Given the description of an element on the screen output the (x, y) to click on. 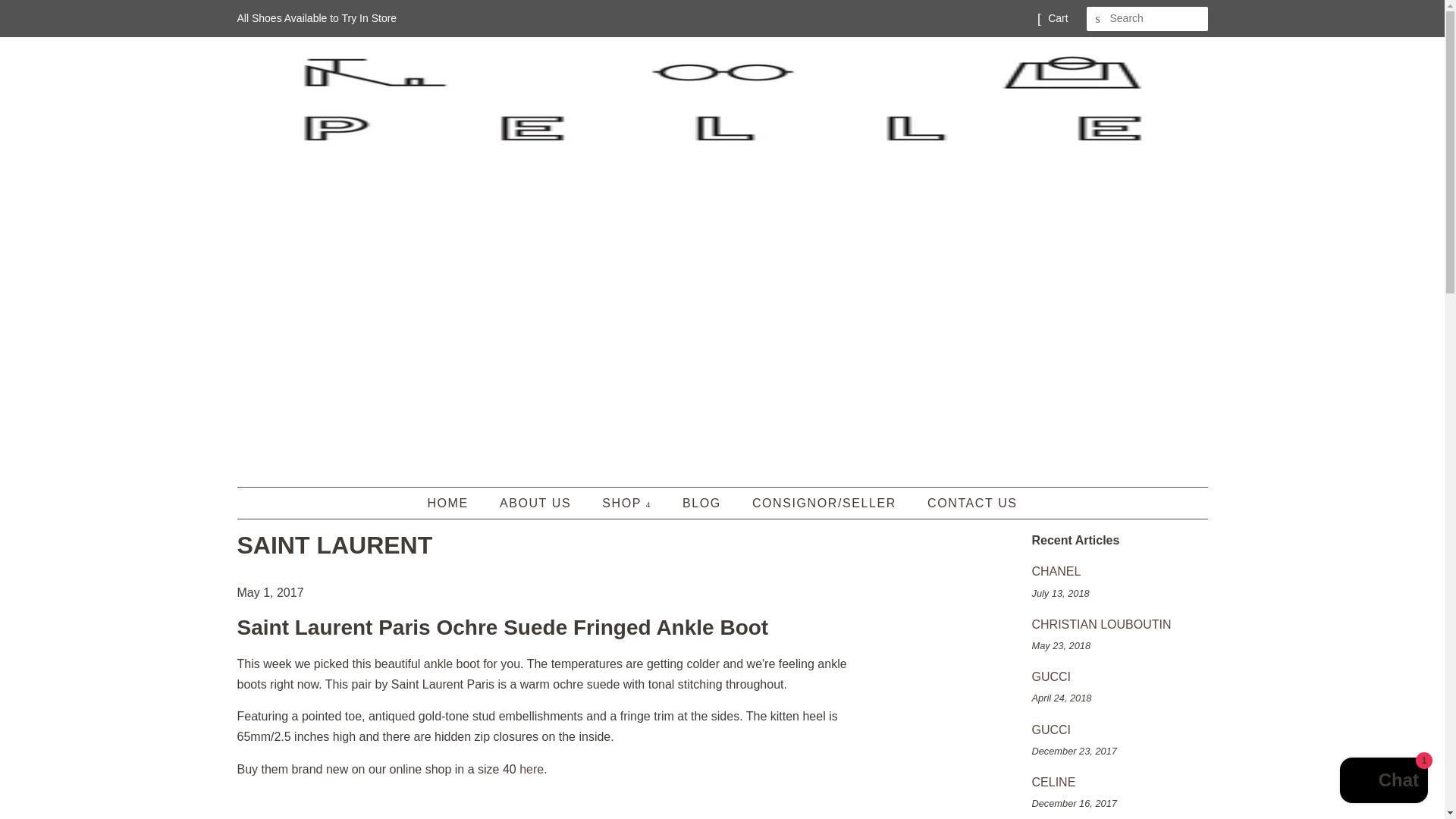
CHANEL (1055, 571)
here (531, 768)
HOME (454, 502)
Shop Saint Laurent suede ankle boots (531, 768)
GUCCI (1050, 729)
GUCCI (1050, 676)
Cart (1057, 18)
ABOUT US (536, 502)
BLOG (703, 502)
SHOP (628, 502)
CHRISTIAN LOUBOUTIN (1100, 624)
CONTACT US (966, 502)
CELINE (1052, 781)
SEARCH (1097, 18)
All Shoes Available to Try In Store (315, 18)
